Given the description of an element on the screen output the (x, y) to click on. 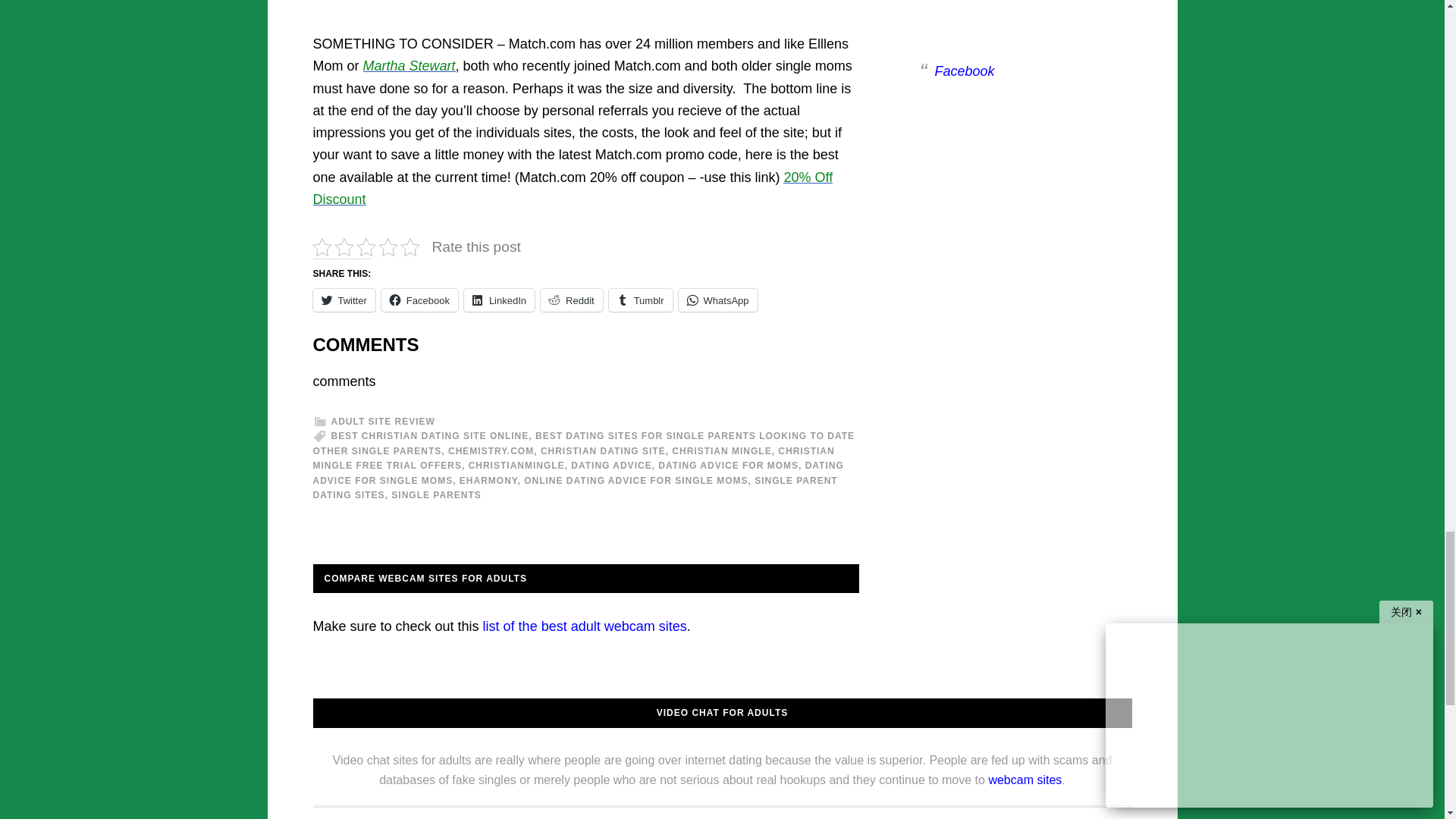
Click to share on Twitter (343, 300)
Facebook (419, 300)
Click to share on WhatsApp (717, 300)
Reddit (571, 300)
Click to share on LinkedIn (499, 300)
BEST CHRISTIAN DATING SITE ONLINE (429, 435)
Twitter (343, 300)
WhatsApp (717, 300)
LinkedIn (499, 300)
ADULT SITE REVIEW (381, 421)
Martha Stewart (408, 65)
Click to share on Reddit (571, 300)
Tumblr (640, 300)
Click to share on Facebook (419, 300)
